Given the description of an element on the screen output the (x, y) to click on. 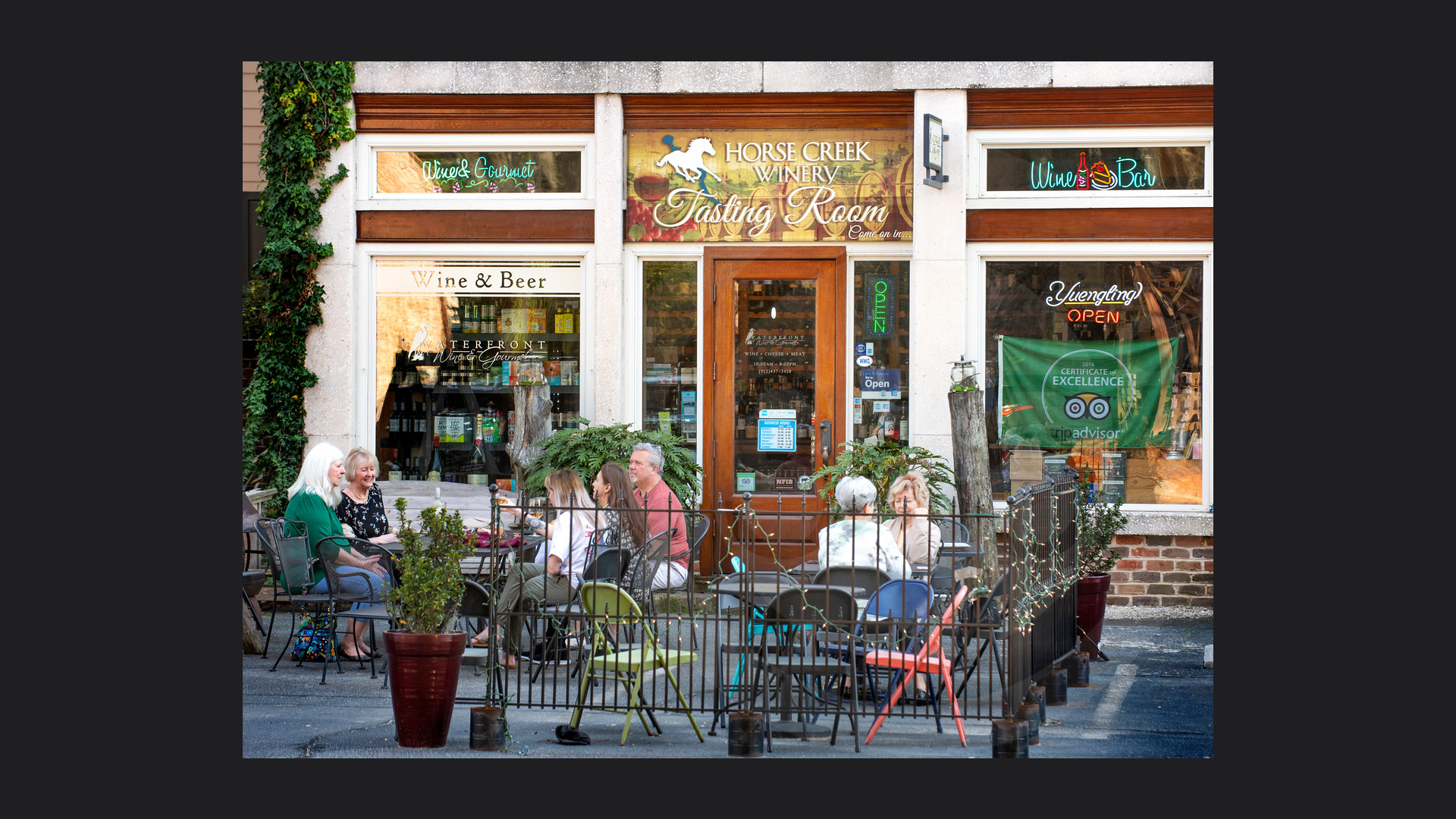
Event Photos Element type: text (40, 119)
SEARCH Element type: text (1400, 133)
Cities & Counties Element type: text (48, 106)
Nature Element type: text (25, 158)
Landscapes Element type: text (37, 145)
Food & Beverage Element type: text (48, 132)
City Scapes Element type: text (36, 93)
BUY PHOTOS Element type: text (1381, 513)
Share Gallery Element type: hover (1260, 513)
Persons Element type: text (28, 172)
Businesses Element type: text (35, 80)
Download All Element type: hover (1297, 513)
Buildings Element type: text (30, 67)
Home Element type: text (23, 40)
Videos Element type: text (24, 184)
